Given the description of an element on the screen output the (x, y) to click on. 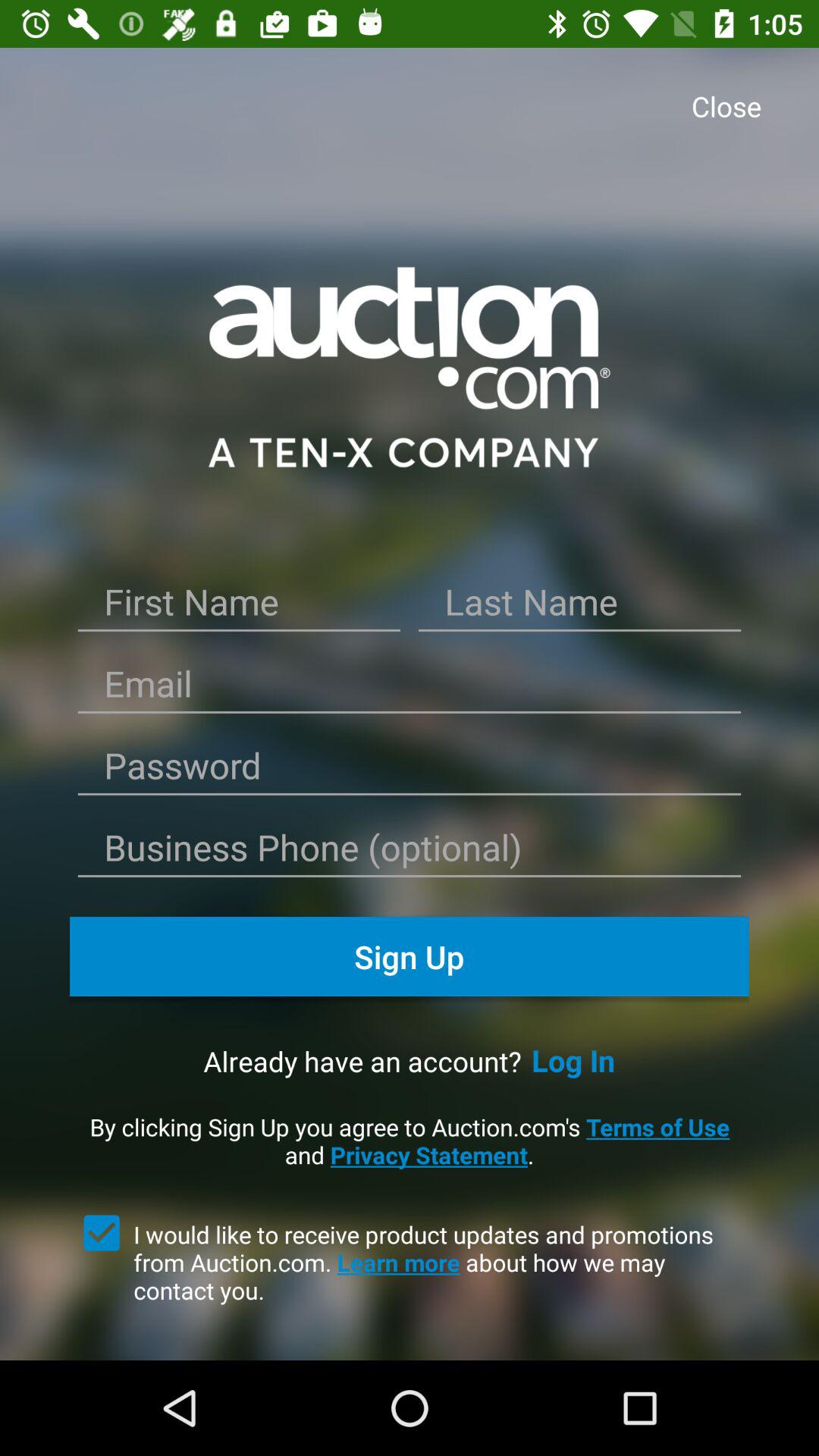
swipe until by clicking sign icon (409, 1140)
